Given the description of an element on the screen output the (x, y) to click on. 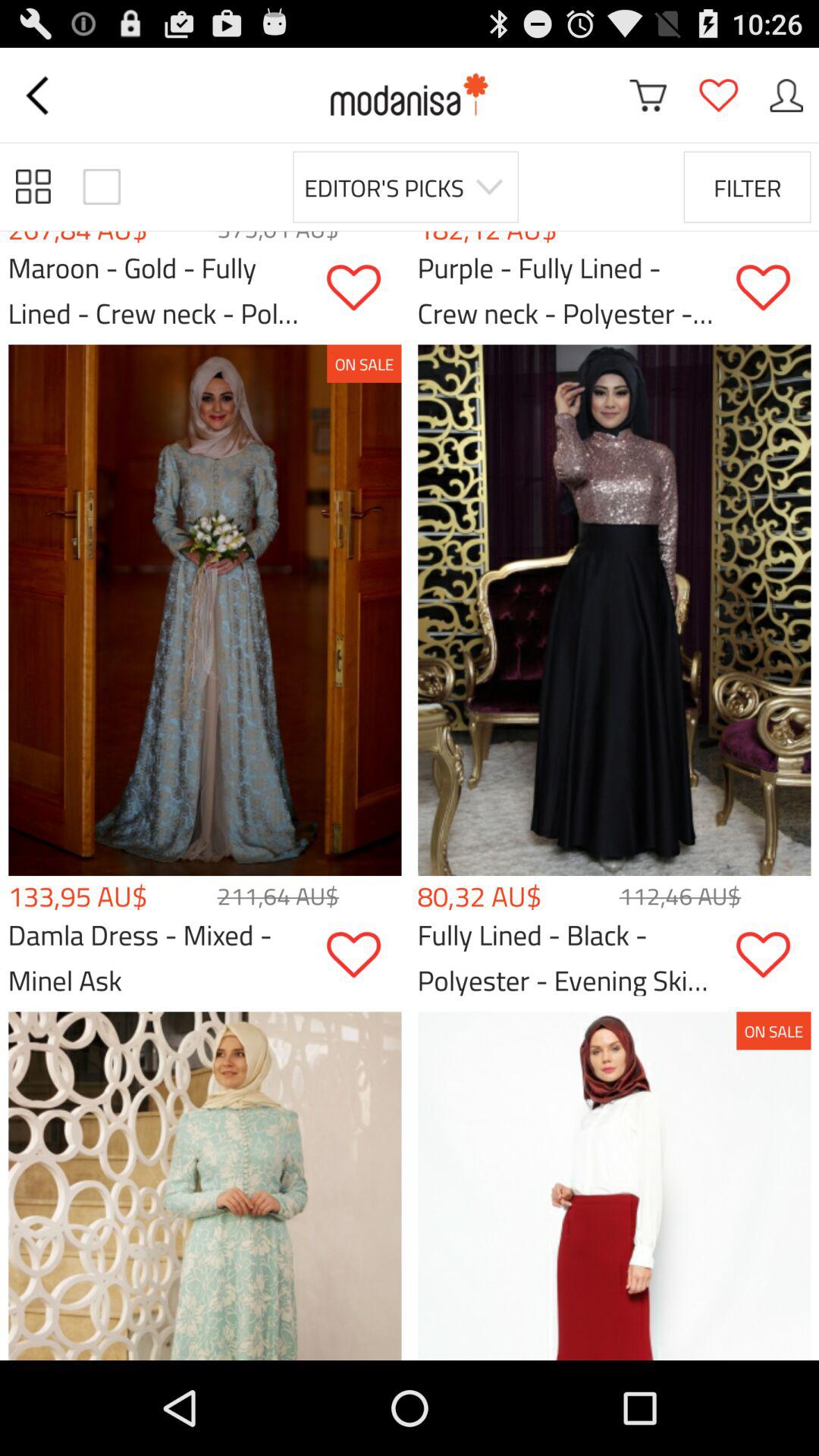
go to modanisa home (409, 95)
